Given the description of an element on the screen output the (x, y) to click on. 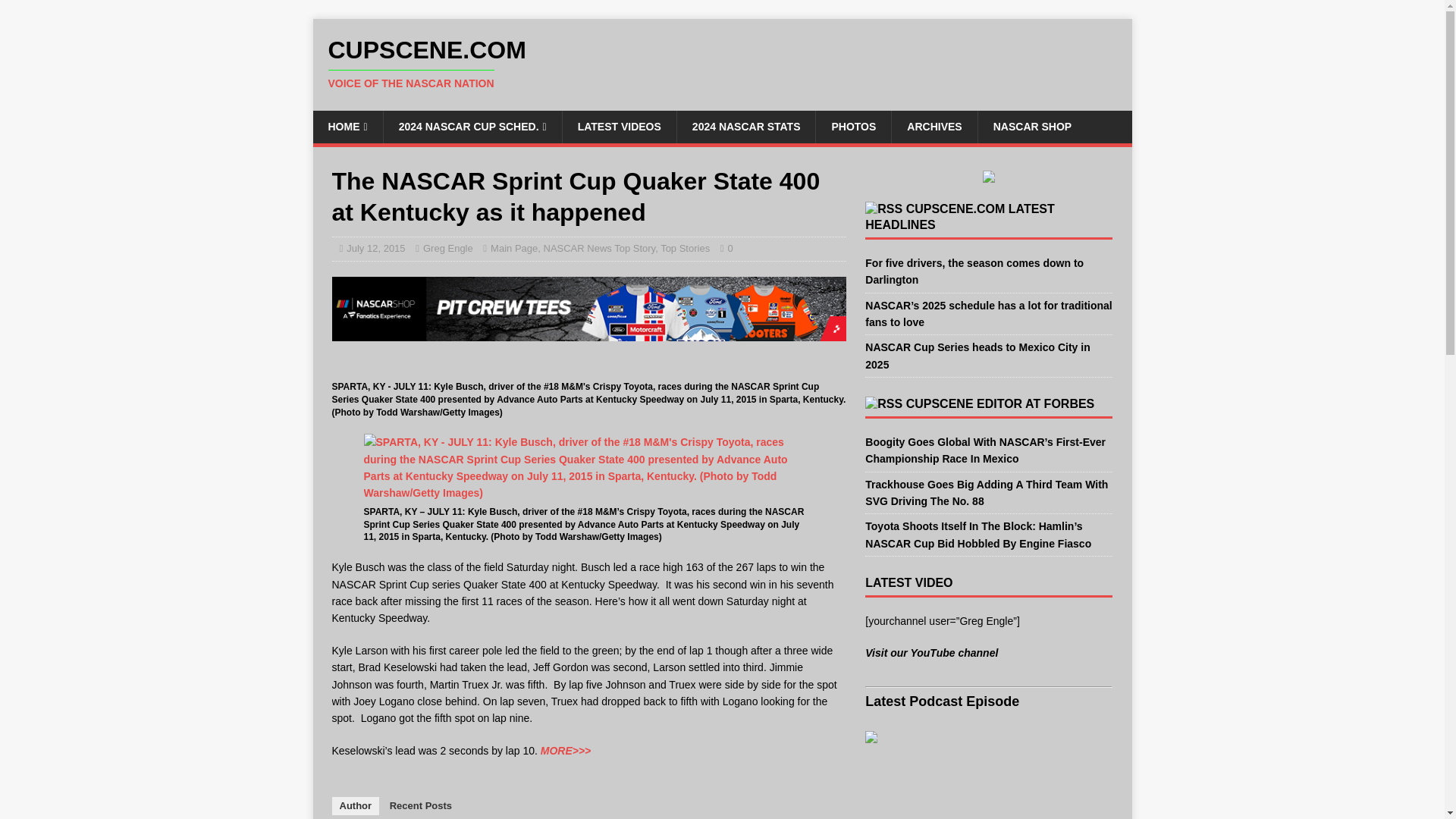
Author (355, 805)
Top Stories (685, 247)
2024 NASCAR STATS (746, 126)
Main Page (513, 247)
Greg Engle (448, 247)
NASCAR News Top Story (599, 247)
CupScene.com (721, 63)
LATEST VIDEOS (619, 126)
ARCHIVES (933, 126)
